Given the description of an element on the screen output the (x, y) to click on. 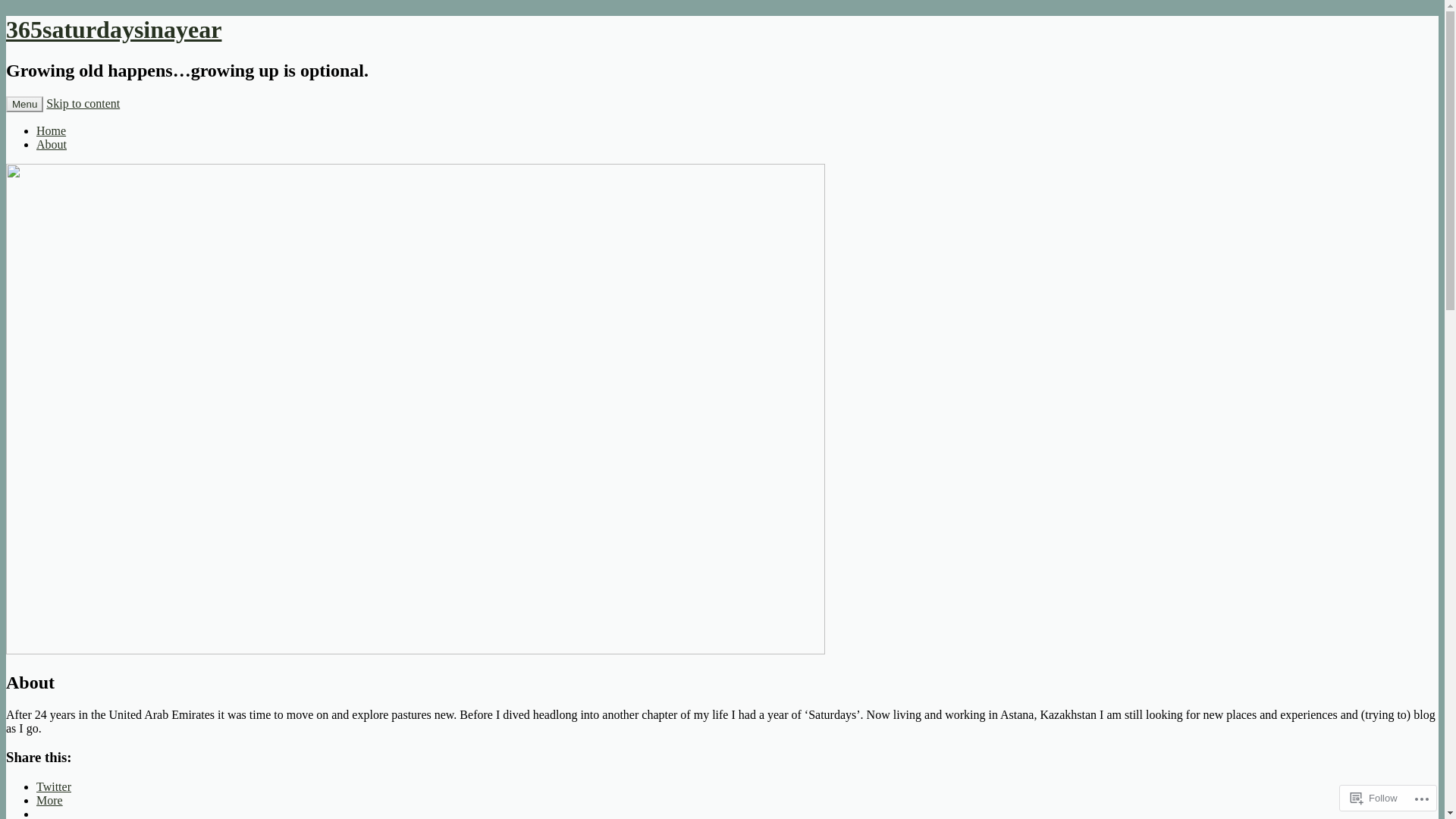
More Element type: text (49, 799)
Home Element type: text (50, 130)
Follow Element type: text (1373, 797)
Twitter Element type: text (53, 786)
365saturdaysinayear Element type: text (113, 29)
Skip to content Element type: text (82, 103)
About Element type: text (51, 144)
Menu Element type: text (24, 104)
